Given the description of an element on the screen output the (x, y) to click on. 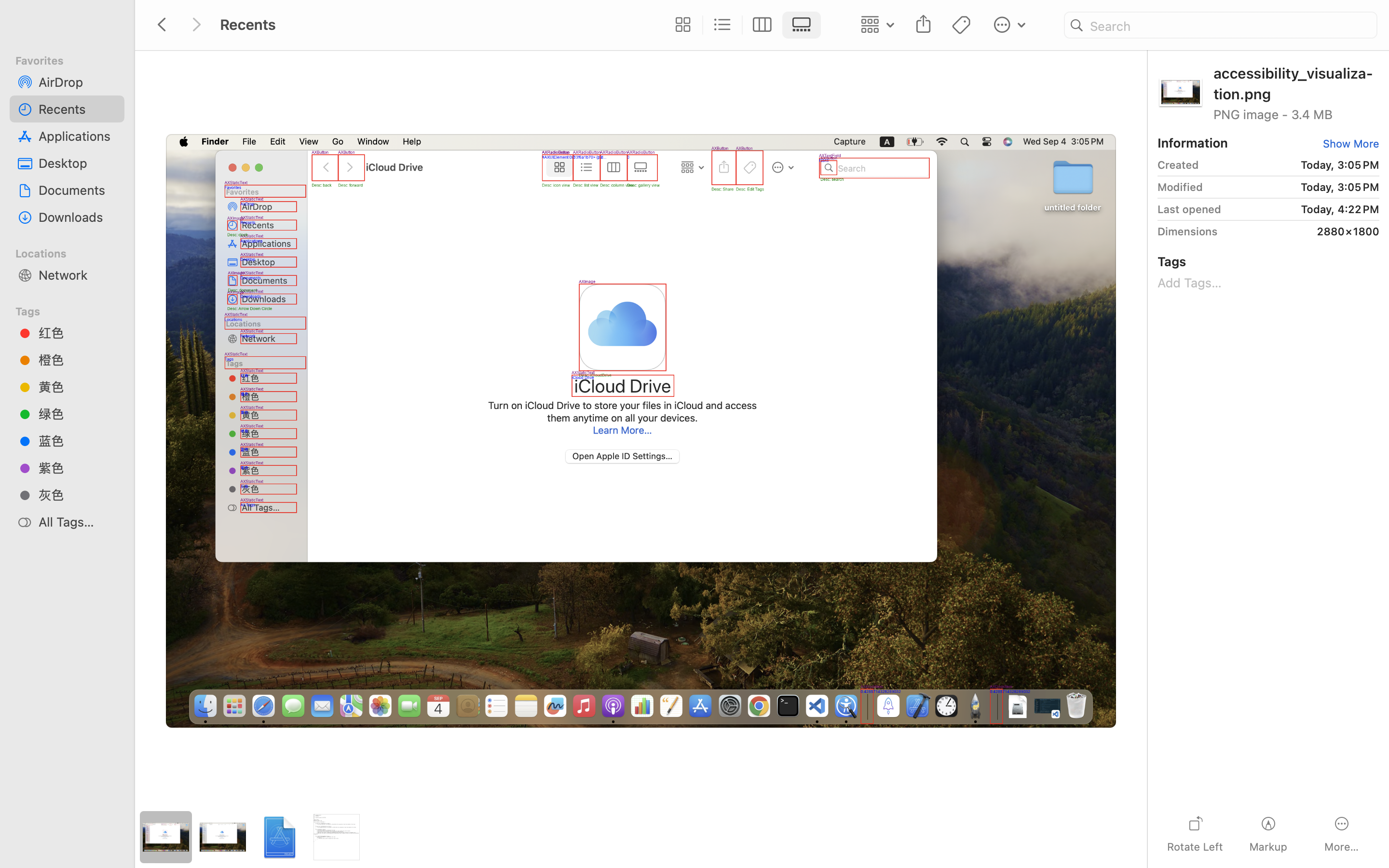
Today, 4:22 PM Element type: AXStaticText (1303, 209)
Modified Element type: AXStaticText (1179, 186)
Documents Element type: AXStaticText (77, 189)
Last opened Element type: AXStaticText (1189, 209)
绿色 Element type: AXStaticText (77, 413)
